Given the description of an element on the screen output the (x, y) to click on. 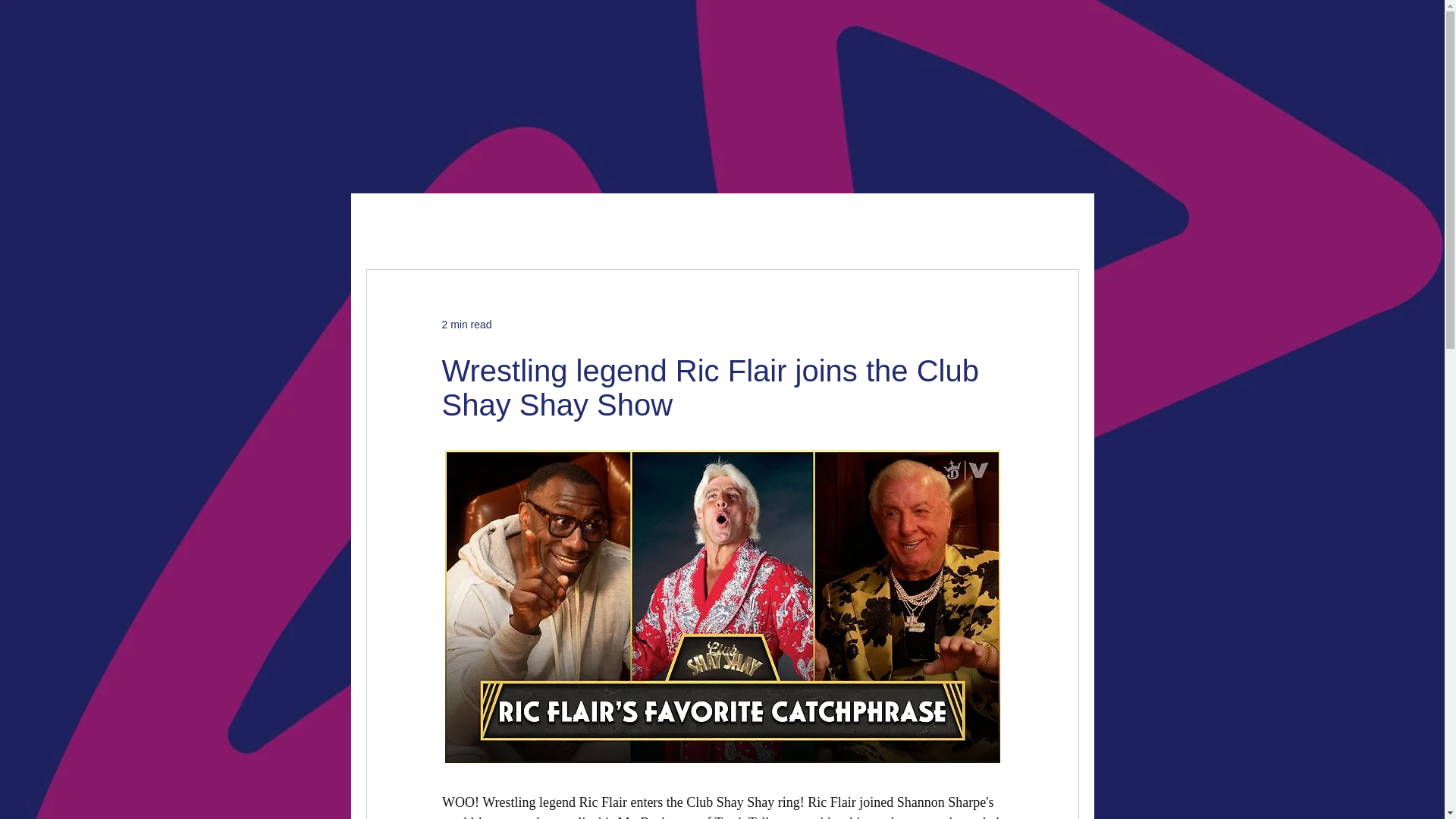
2 min read (466, 324)
